Given the description of an element on the screen output the (x, y) to click on. 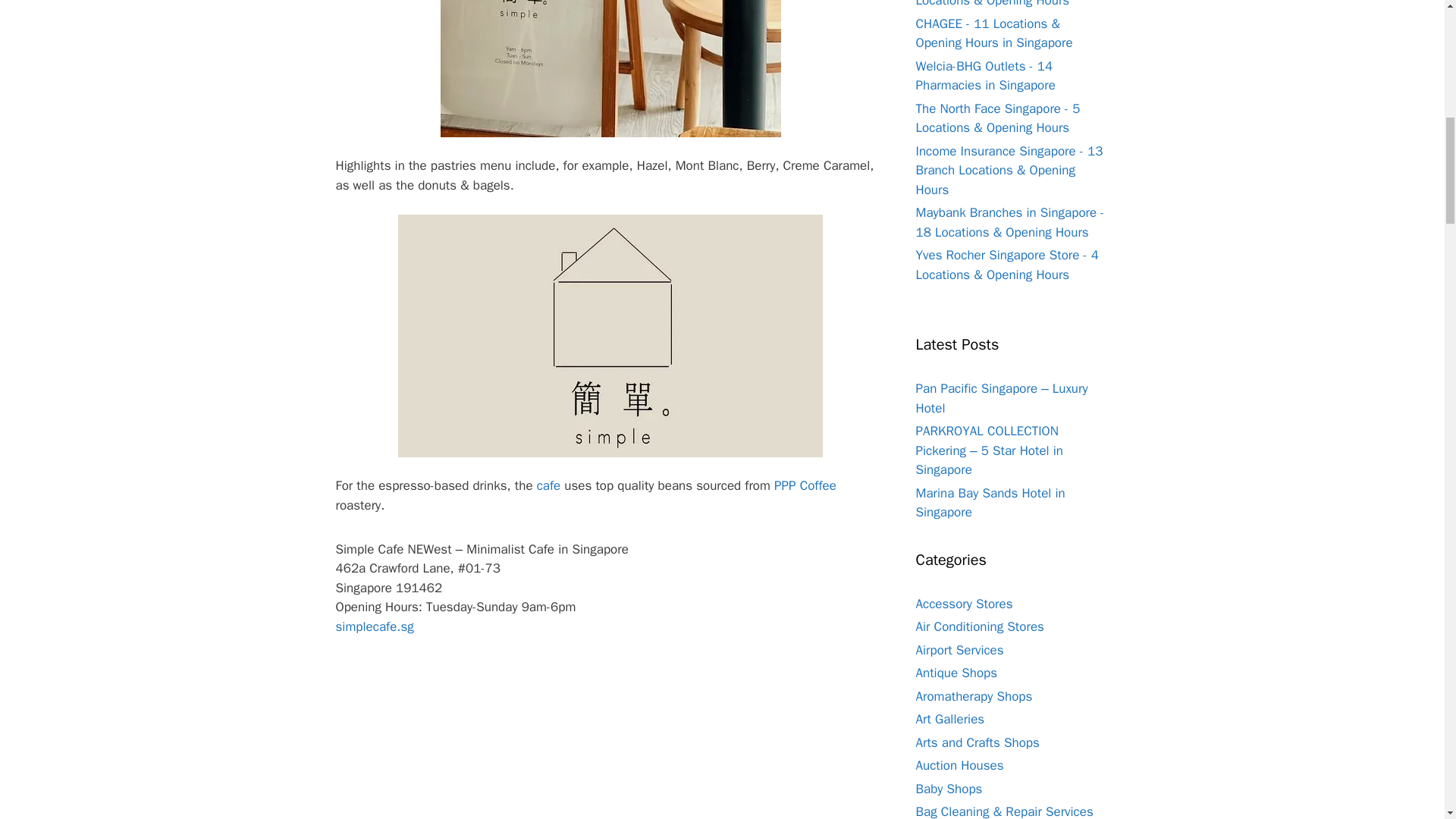
PPP Coffee (804, 485)
Art Galleries (950, 719)
Airport Services (959, 650)
cafe (548, 485)
Air Conditioning Stores (979, 626)
Accessory Stores (964, 603)
Aromatherapy Shops (973, 696)
Antique Shops (956, 672)
simplecafe.sg (373, 626)
Welcia-BHG Outlets - 14 Pharmacies in Singapore (985, 76)
Arts and Crafts Shops (977, 742)
Marina Bay Sands Hotel in Singapore (990, 502)
Auction Houses (959, 765)
